Given the description of an element on the screen output the (x, y) to click on. 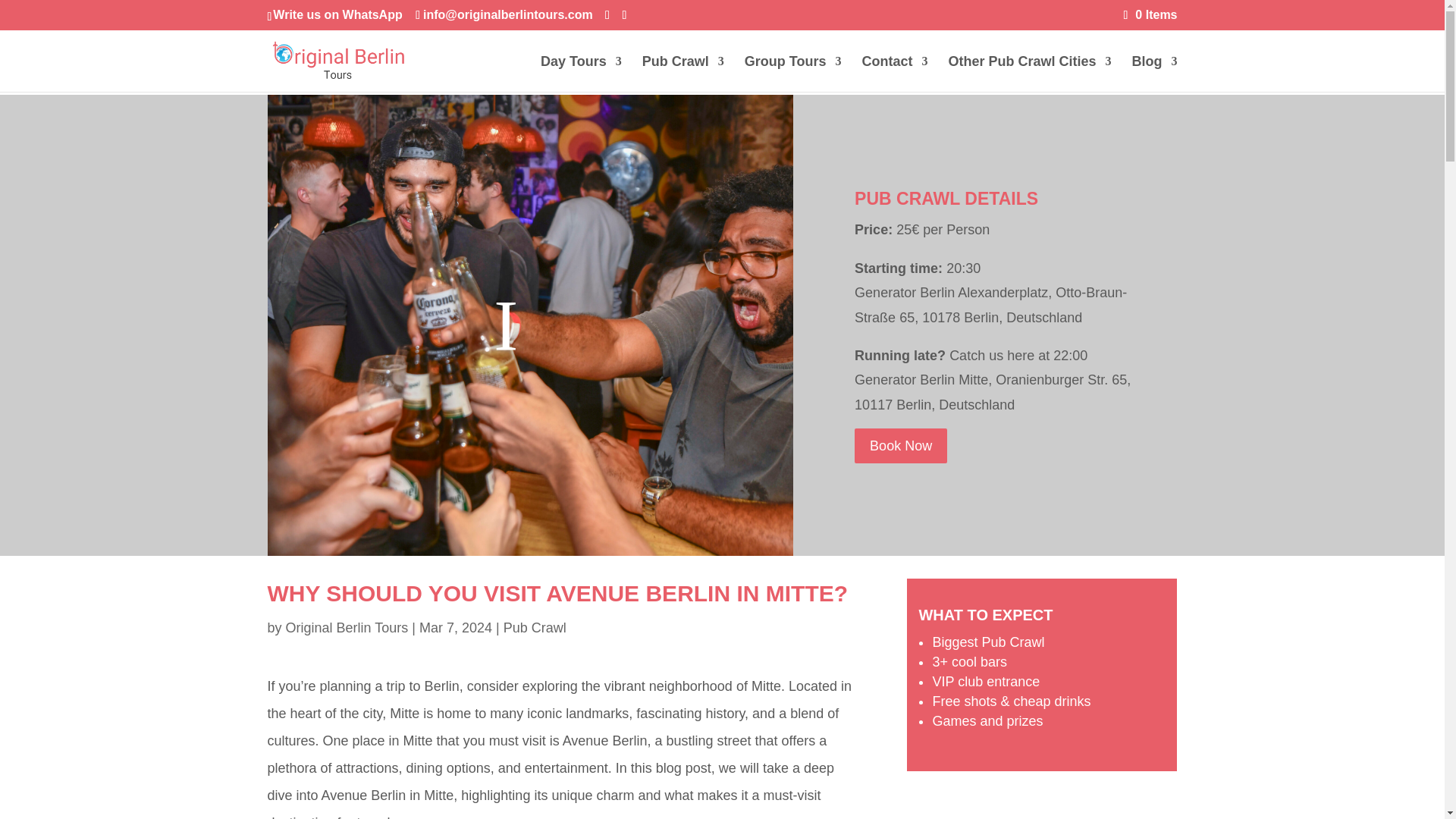
Group Tours (792, 73)
Pub Crawl (682, 73)
Day Tours (580, 73)
Write us on WhatsApp (337, 14)
Contact (894, 73)
Posts by Original Berlin Tours (347, 627)
0 Items (1150, 14)
